Given the description of an element on the screen output the (x, y) to click on. 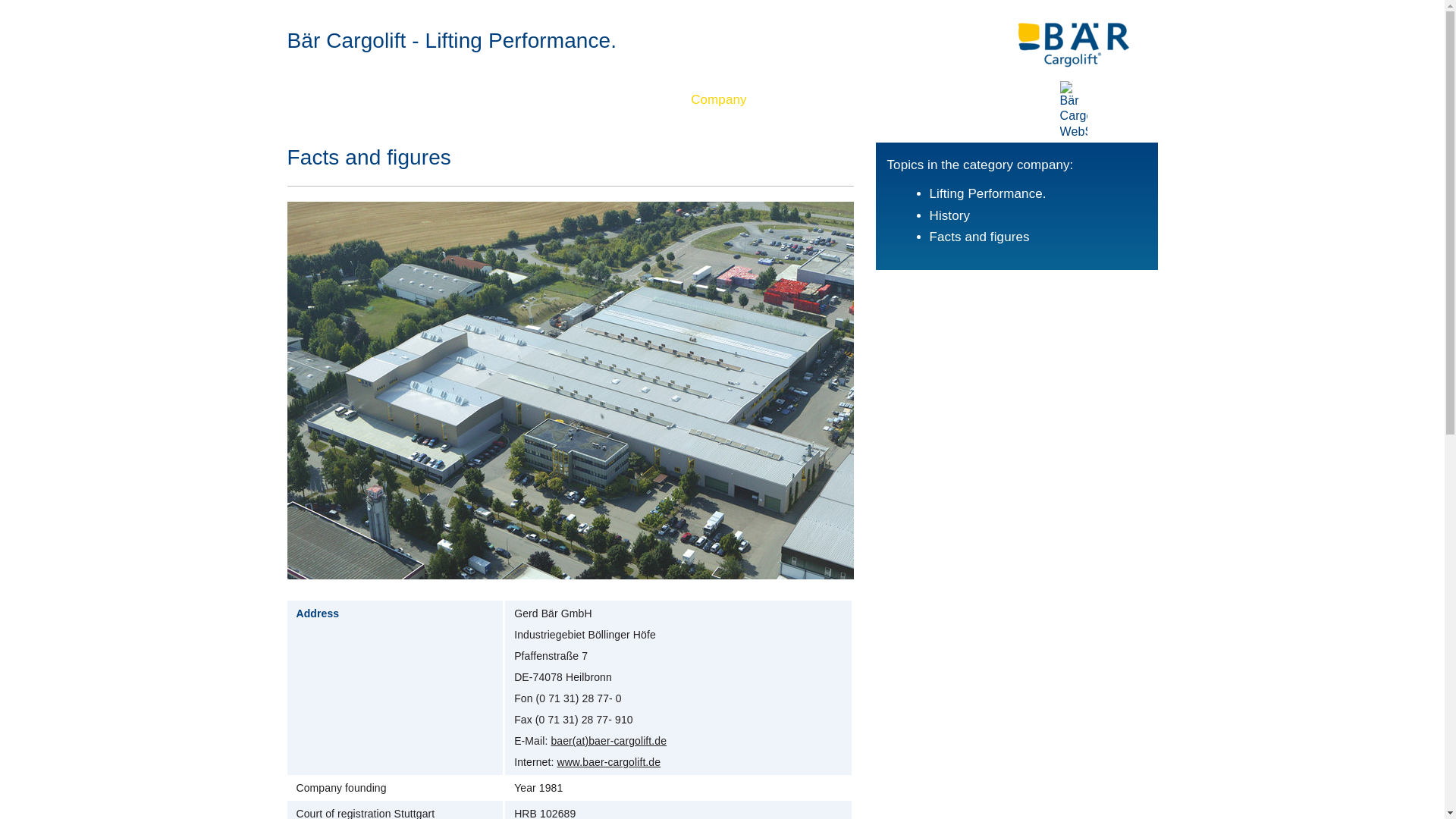
Contact Element type: text (641, 99)
Products Element type: text (374, 99)
Lifting Performance. Element type: text (987, 193)
HowToCargoLift Element type: text (474, 99)
Service Element type: text (569, 99)
www.baer-cargolift.de Element type: text (608, 762)
baer(at)baer-cargolift.de Element type: text (608, 740)
History Element type: text (949, 215)
Facts and figures Element type: text (979, 236)
Company Element type: text (718, 99)
Home Element type: text (305, 99)
